Given the description of an element on the screen output the (x, y) to click on. 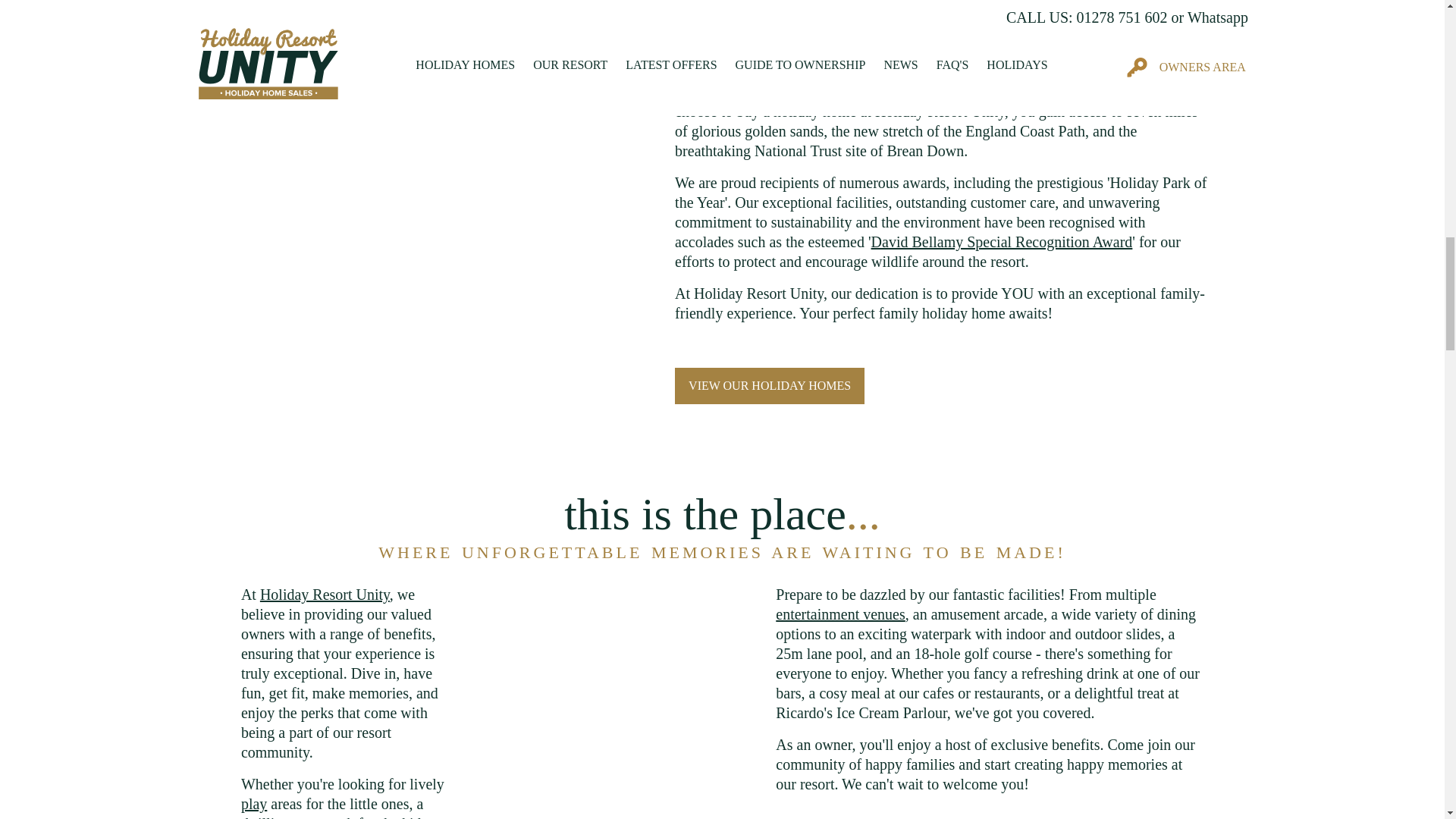
entertainment venues (840, 614)
David Bellamy Special Recognition Award (1001, 241)
Holiday Resort Unity (325, 594)
play (253, 803)
VIEW OUR HOLIDAY HOMES (769, 385)
waterpark (323, 816)
sandy beaches of (749, 4)
